Given the description of an element on the screen output the (x, y) to click on. 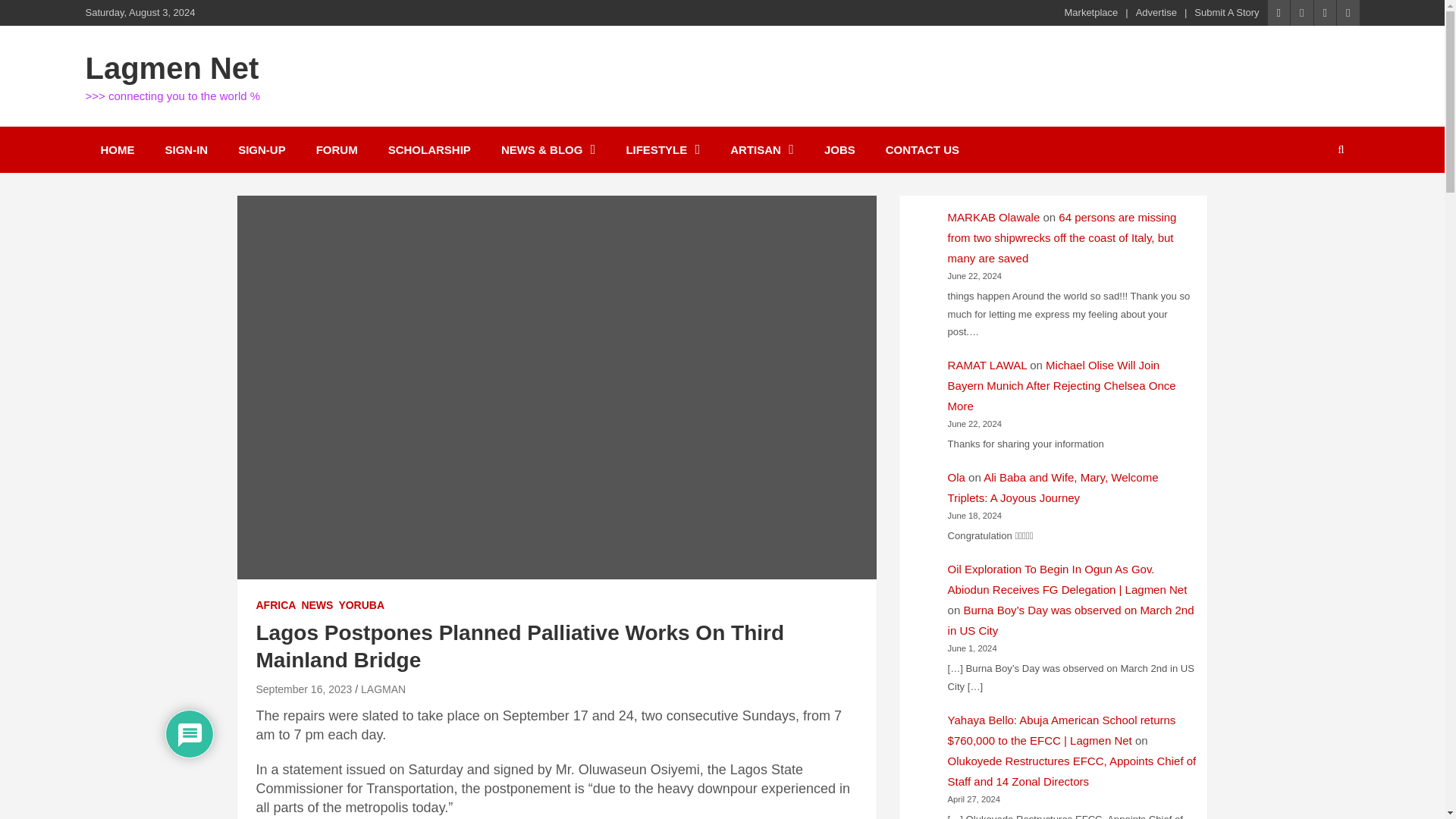
SCHOLARSHIP (429, 149)
LIFESTYLE (662, 149)
Submit A Story (1226, 12)
SIGN-IN (186, 149)
Marketplace (1091, 12)
September 16, 2023 (304, 689)
FORUM (336, 149)
HOME (116, 149)
ARTISAN (761, 149)
SIGN-UP (261, 149)
NEWS (317, 605)
JOBS (839, 149)
CONTACT US (922, 149)
AFRICA (276, 605)
